Given the description of an element on the screen output the (x, y) to click on. 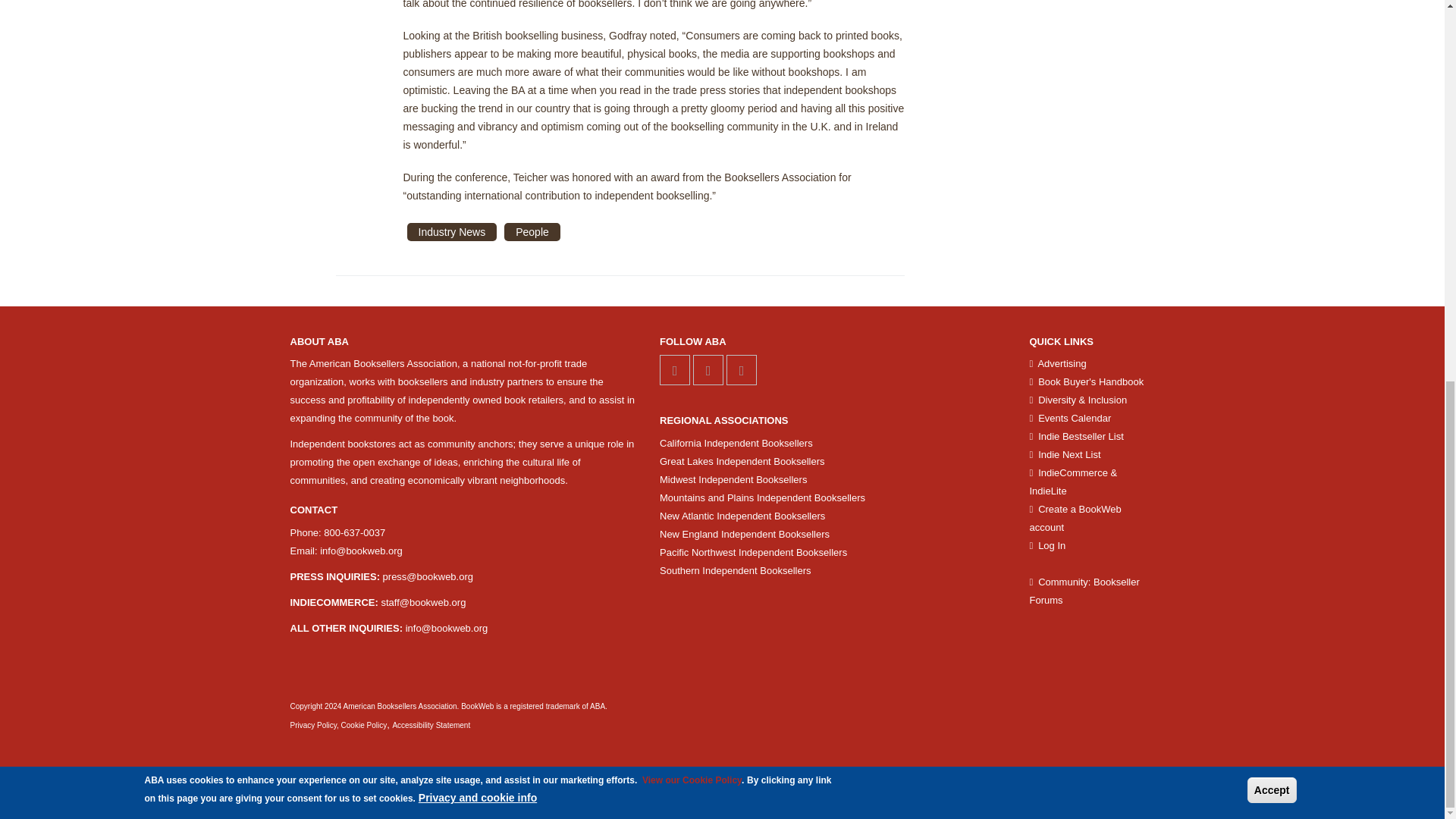
Accept (1272, 79)
View our Cookie Policy (691, 69)
Privacy and cookie info (478, 86)
